Given the description of an element on the screen output the (x, y) to click on. 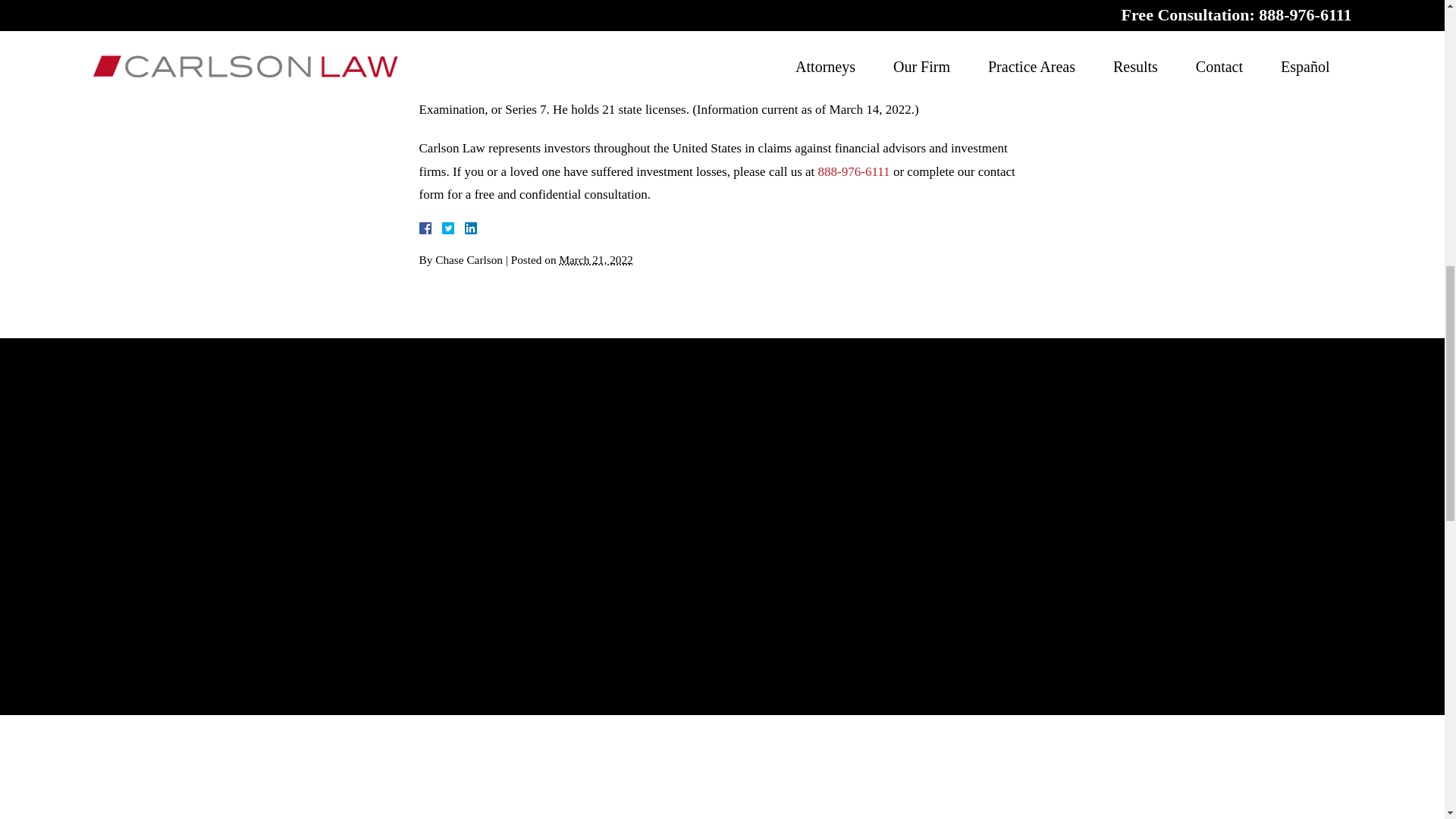
2022-03-21T12:00:15-0700 (595, 259)
Twitter (453, 227)
Facebook (443, 227)
LinkedIn (463, 227)
